Given the description of an element on the screen output the (x, y) to click on. 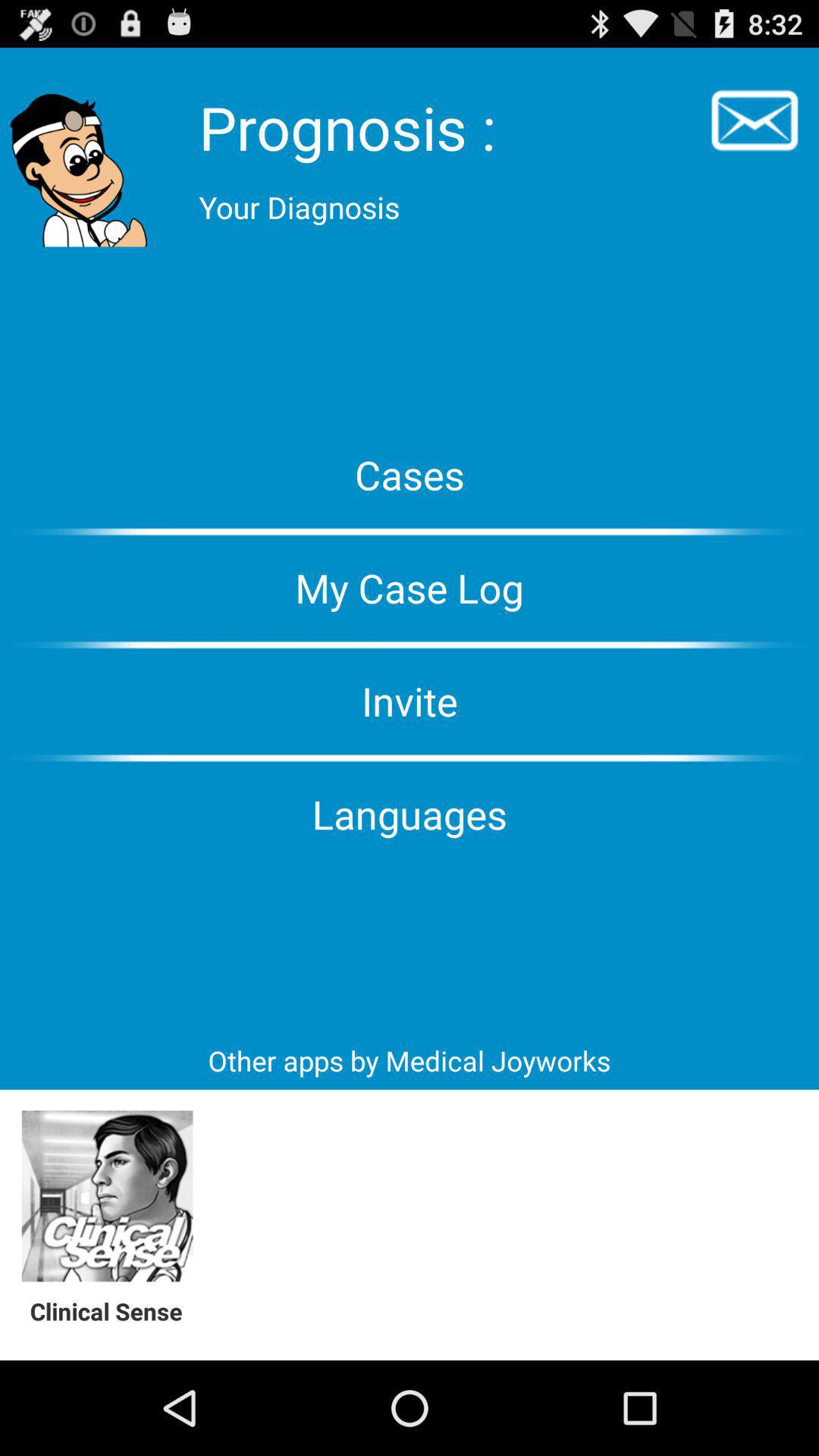
press the clinical sense app (114, 1311)
